Given the description of an element on the screen output the (x, y) to click on. 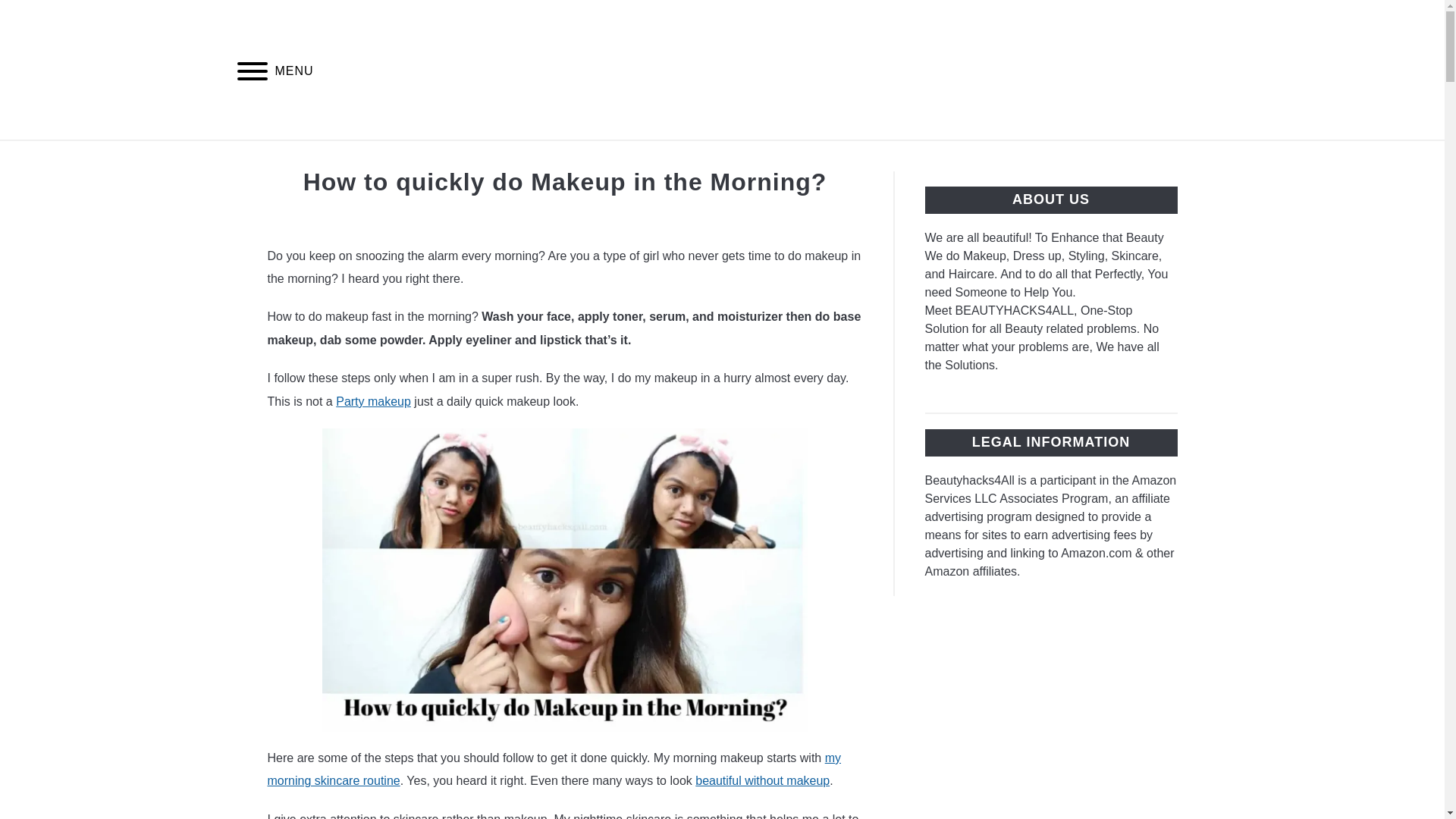
PIERCINGS (810, 158)
HAIR (543, 158)
beautiful without makeup (762, 780)
Search (1203, 69)
REVIEWS (621, 158)
Party makeup (373, 400)
my morning skincare routine (553, 769)
MENU (251, 73)
CELEBRATIONS (930, 158)
FASHION (713, 158)
